Given the description of an element on the screen output the (x, y) to click on. 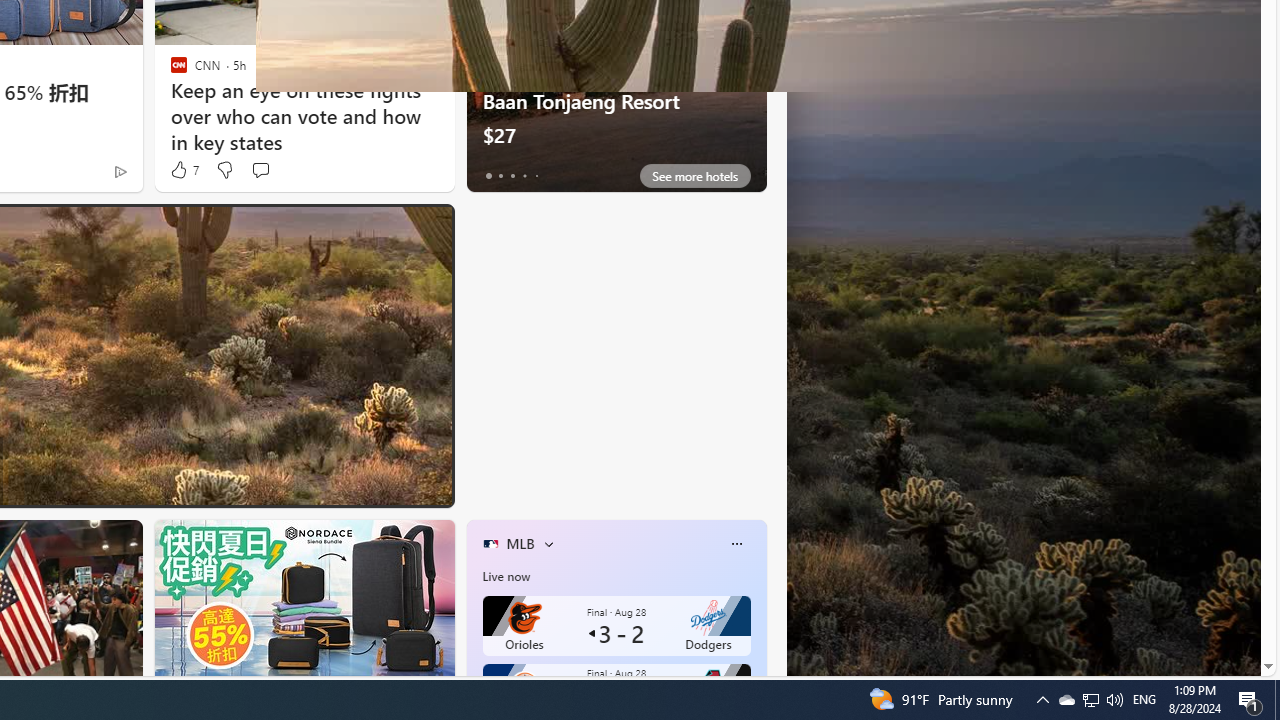
More options (736, 543)
tab-2 (511, 175)
Feedback (1206, 659)
Stay protected while you browse with Microsoft Edge (609, 435)
Class: icon-img (736, 543)
Expand background (1233, 610)
tab-3 (524, 175)
See more hotels (694, 175)
Stay protected while you browse with Microsoft Edge (616, 321)
